Given the description of an element on the screen output the (x, y) to click on. 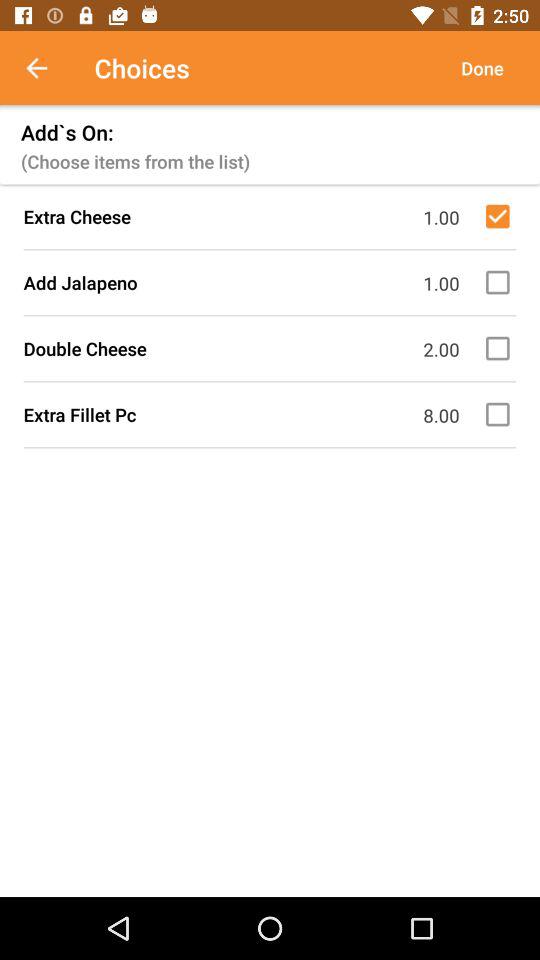
select object (501, 216)
